Given the description of an element on the screen output the (x, y) to click on. 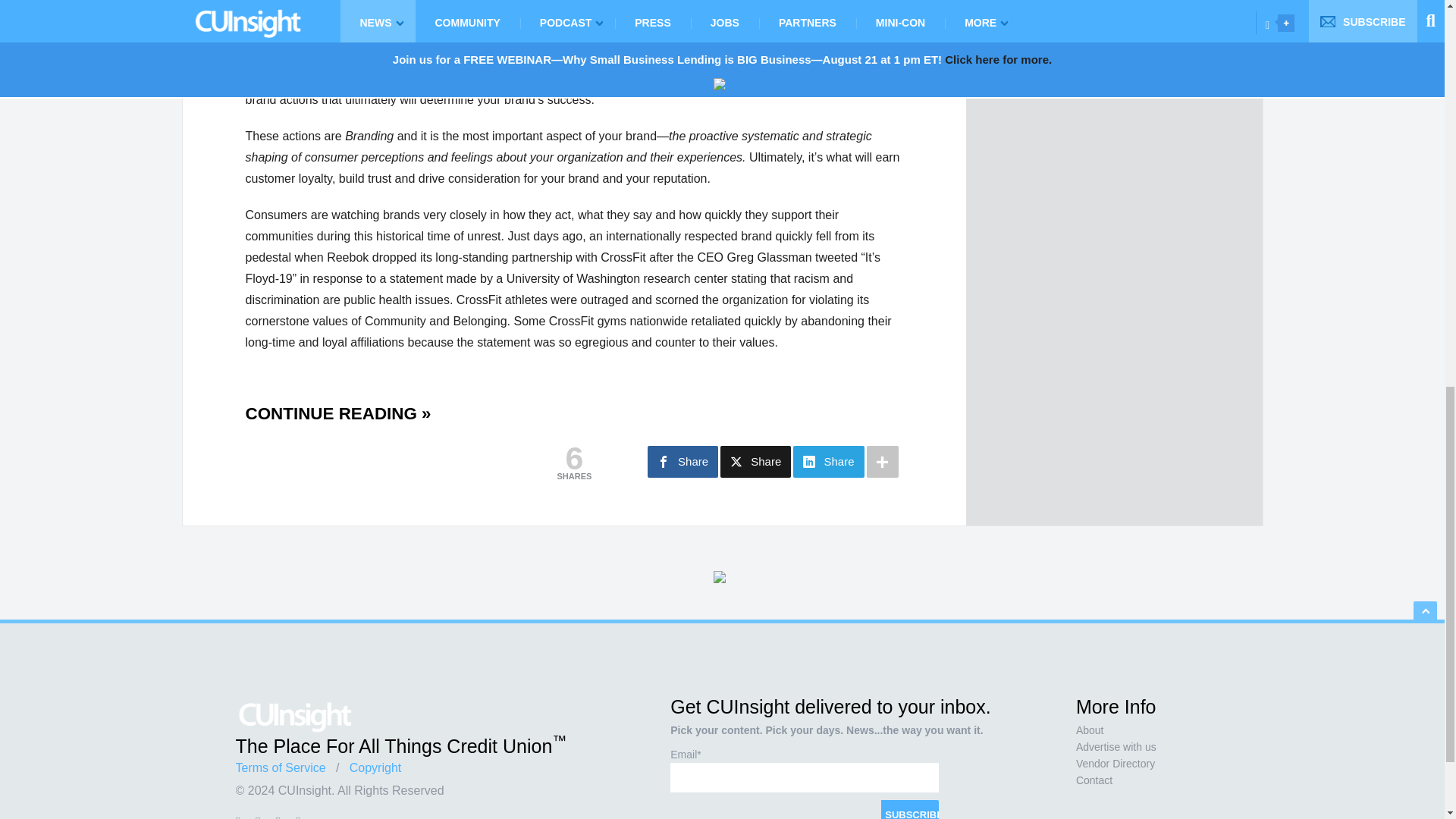
Subscribe (909, 809)
